Given the description of an element on the screen output the (x, y) to click on. 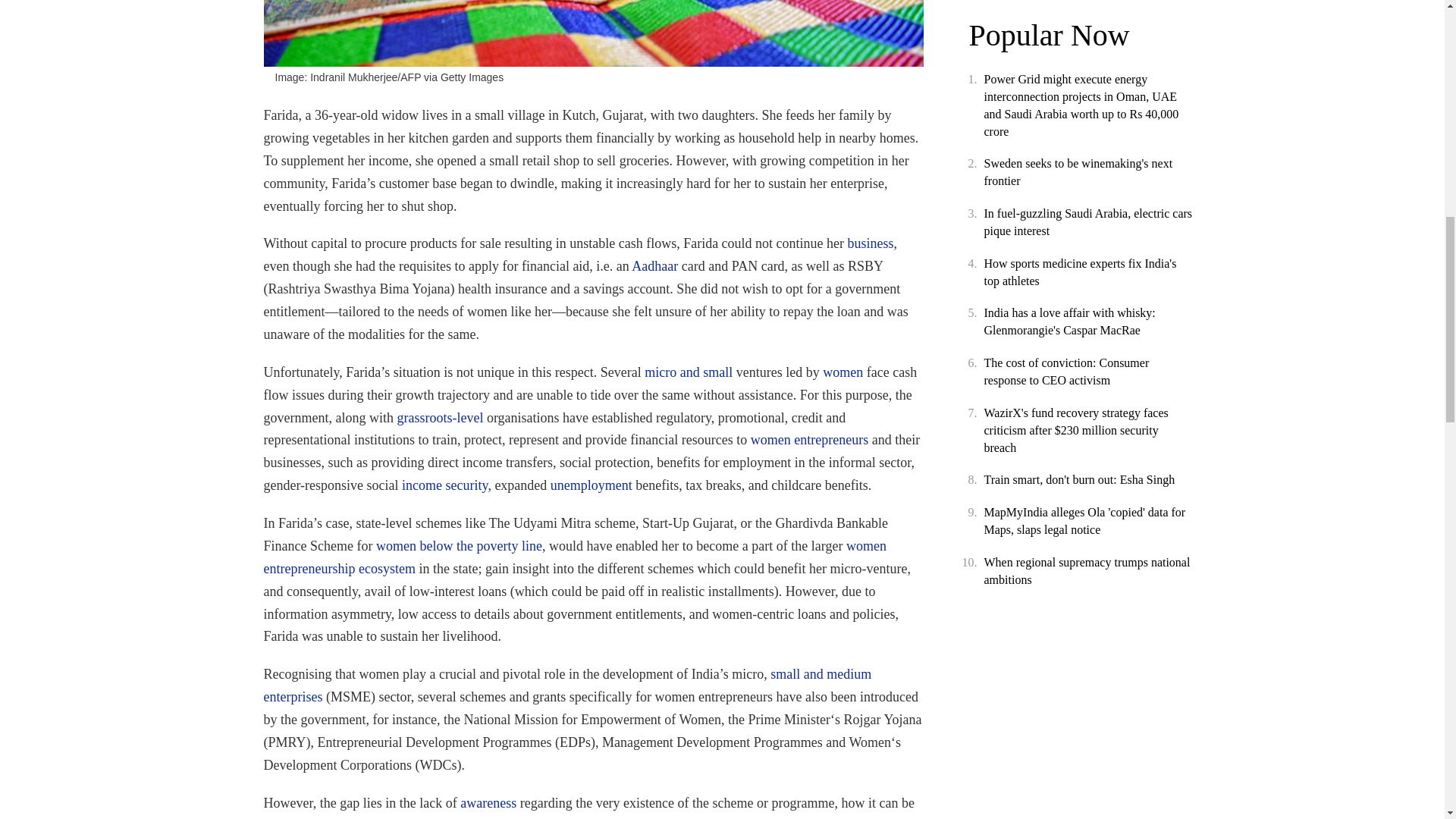
3rd party ad content (1082, 5)
Women-in-MSMEs (593, 33)
